Given the description of an element on the screen output the (x, y) to click on. 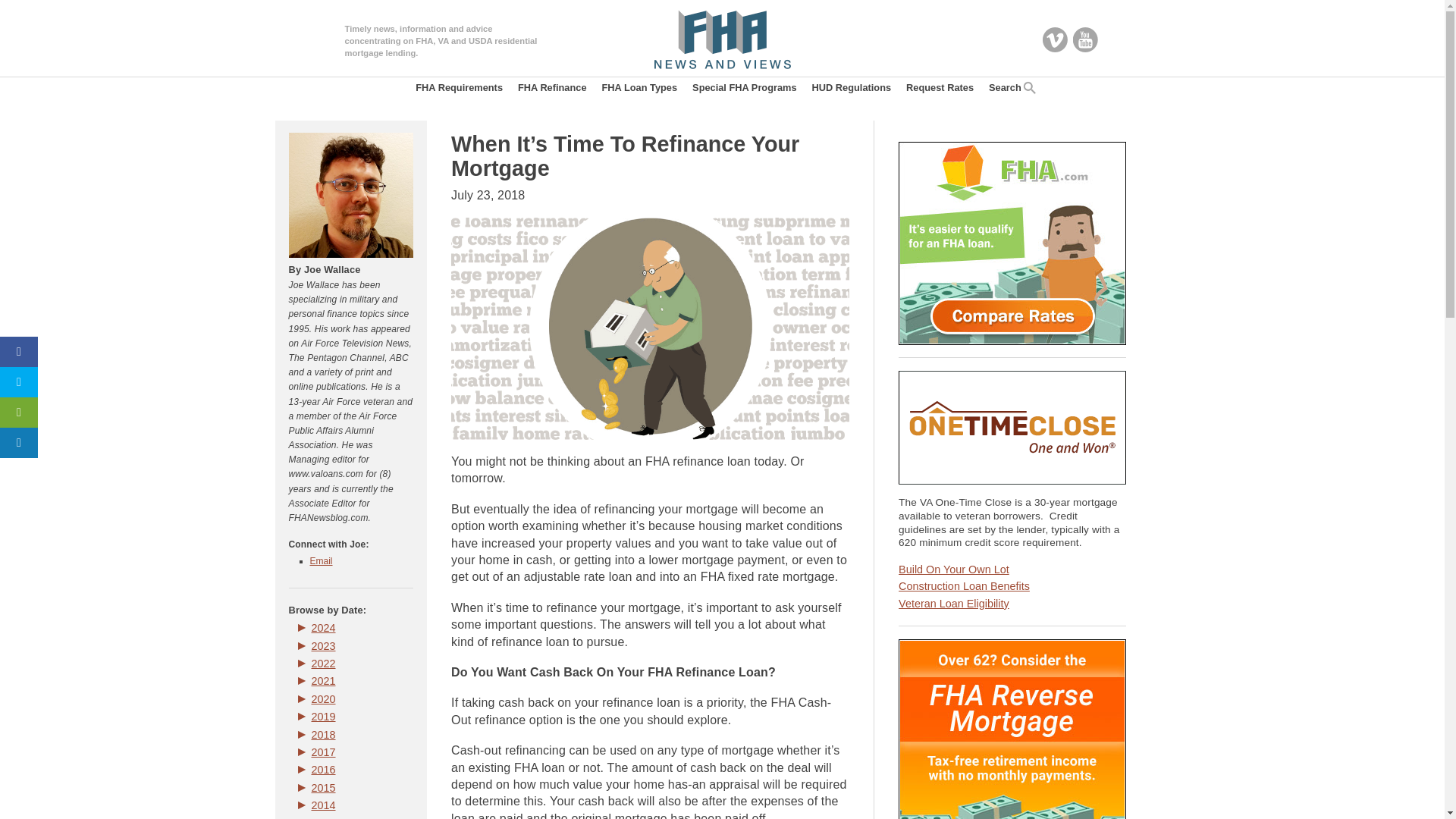
Request Rates (939, 87)
HUD Regulations (852, 87)
Special FHA Programs (744, 87)
By Joe Wallace (323, 269)
Search (1008, 87)
FHA Refinance (552, 87)
FHA Requirements (459, 87)
FHA Loan Types (639, 87)
